Given the description of an element on the screen output the (x, y) to click on. 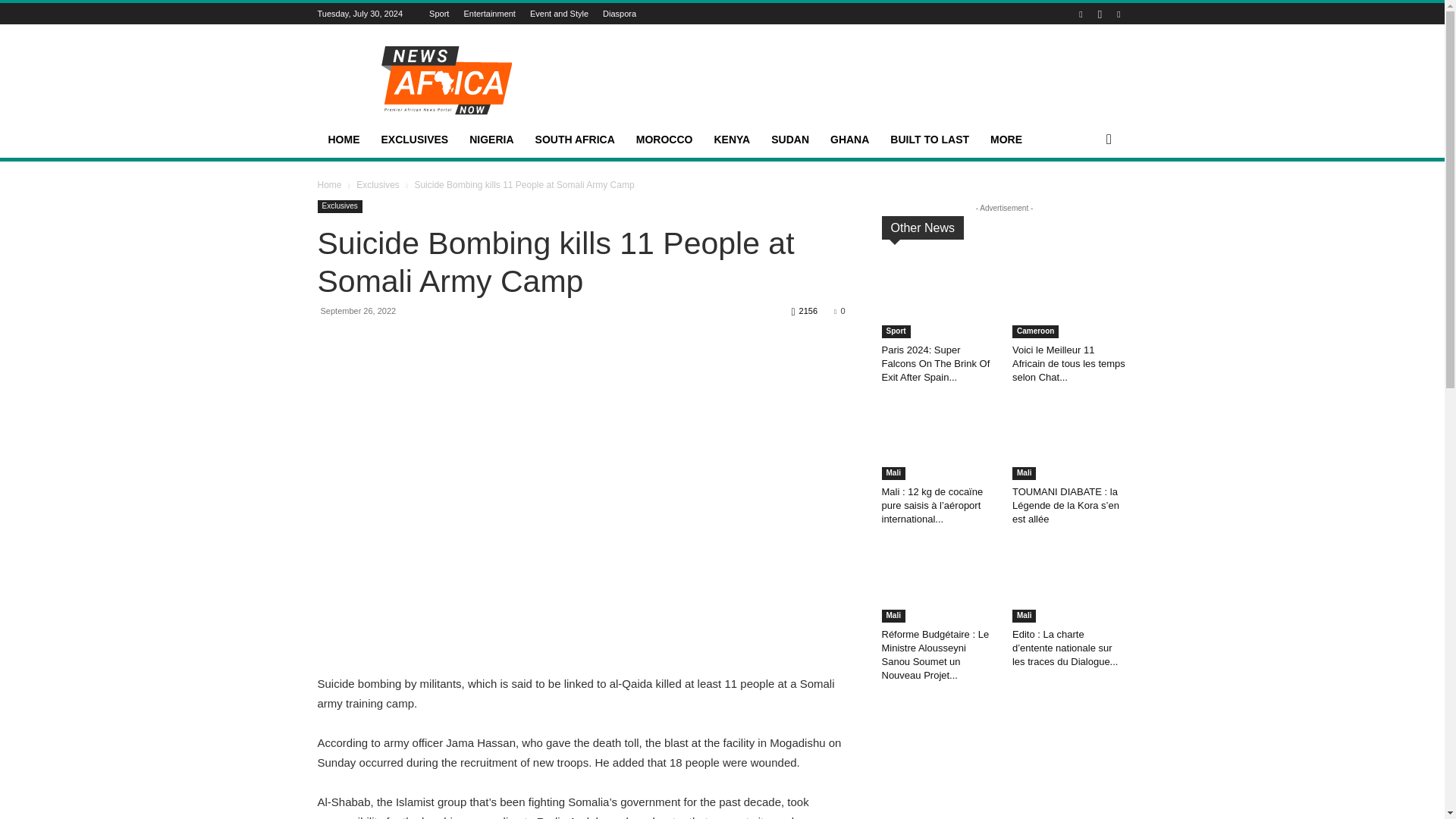
HOME (343, 139)
SOUTH AFRICA (575, 139)
Entertainment (489, 13)
Event and Style (558, 13)
NIGERIA (491, 139)
EXCLUSIVES (413, 139)
View all posts in Exclusives (377, 184)
Diaspora (619, 13)
Sport (438, 13)
MOROCCO (664, 139)
